Given the description of an element on the screen output the (x, y) to click on. 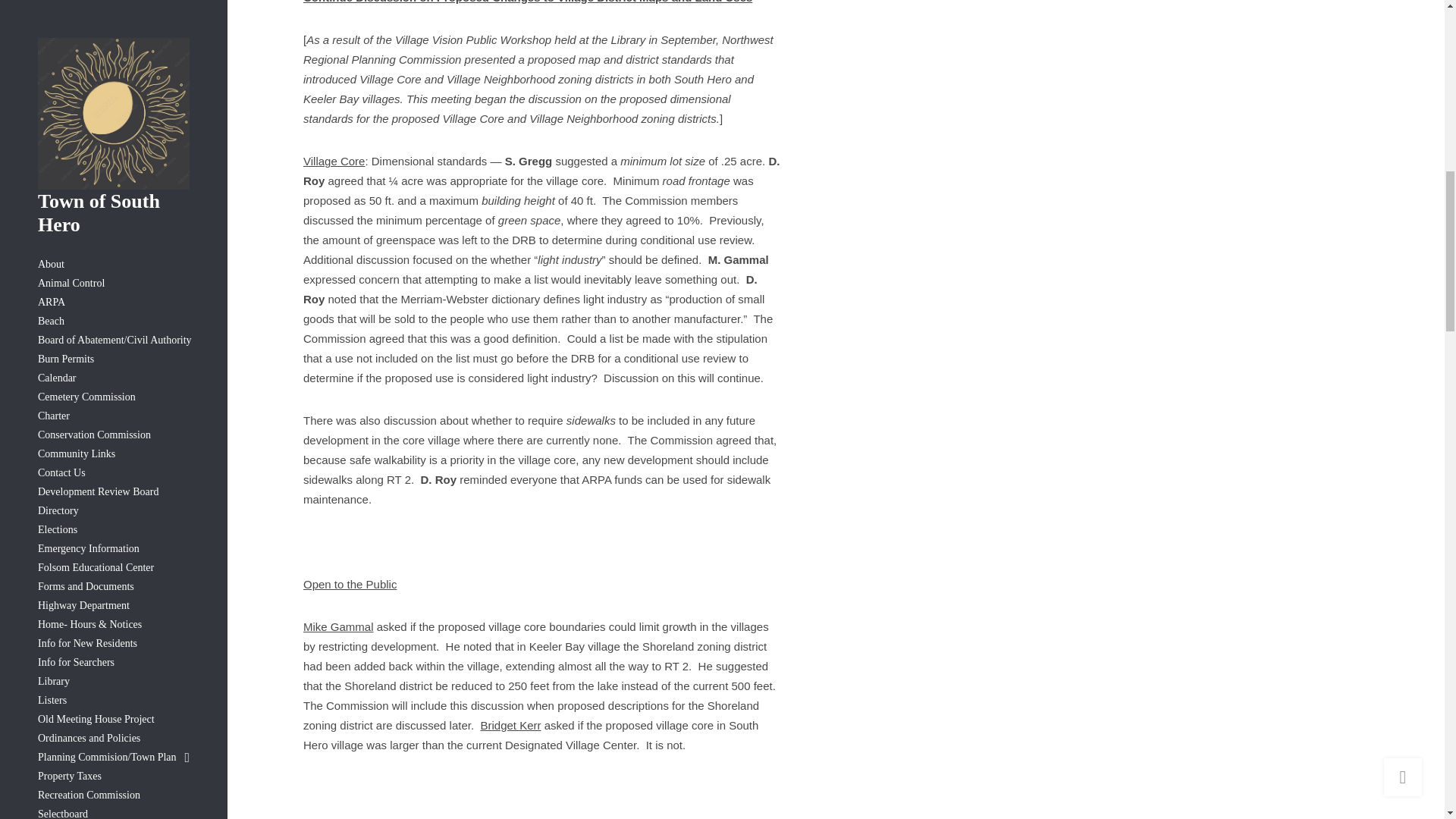
Town Office Building Committee (113, 33)
Town Office Study Committee (113, 52)
Zoning (113, 108)
Wastewater Committee (113, 90)
Selectboard (113, 2)
Town Report (113, 71)
